Given the description of an element on the screen output the (x, y) to click on. 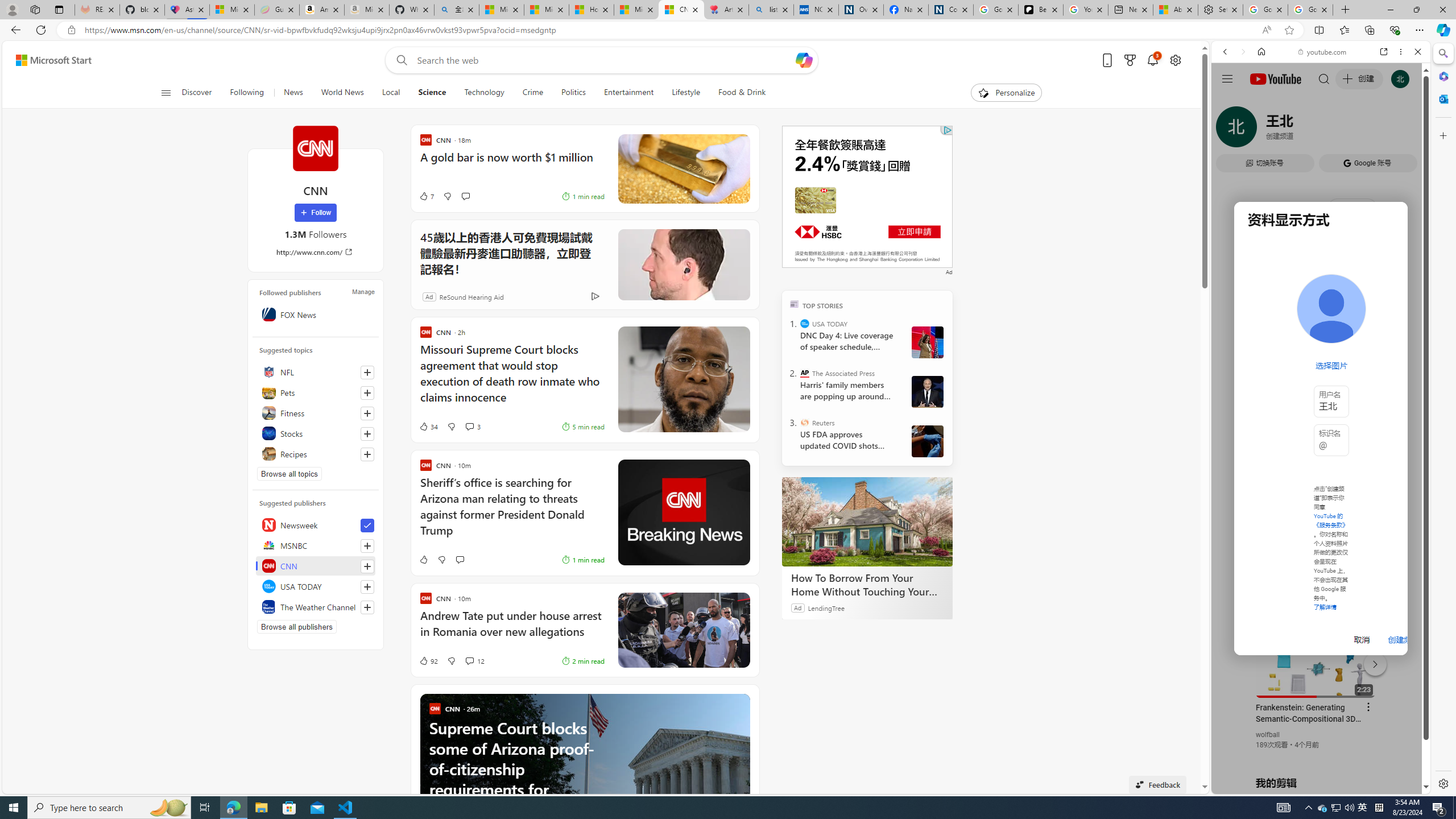
you (1315, 755)
See more (741, 701)
The Associated Press (804, 372)
Web scope (1230, 102)
View comments 3 Comment (472, 426)
Preferences (1403, 129)
SEARCH TOOLS (1350, 130)
Open Copilot (803, 59)
